Given the description of an element on the screen output the (x, y) to click on. 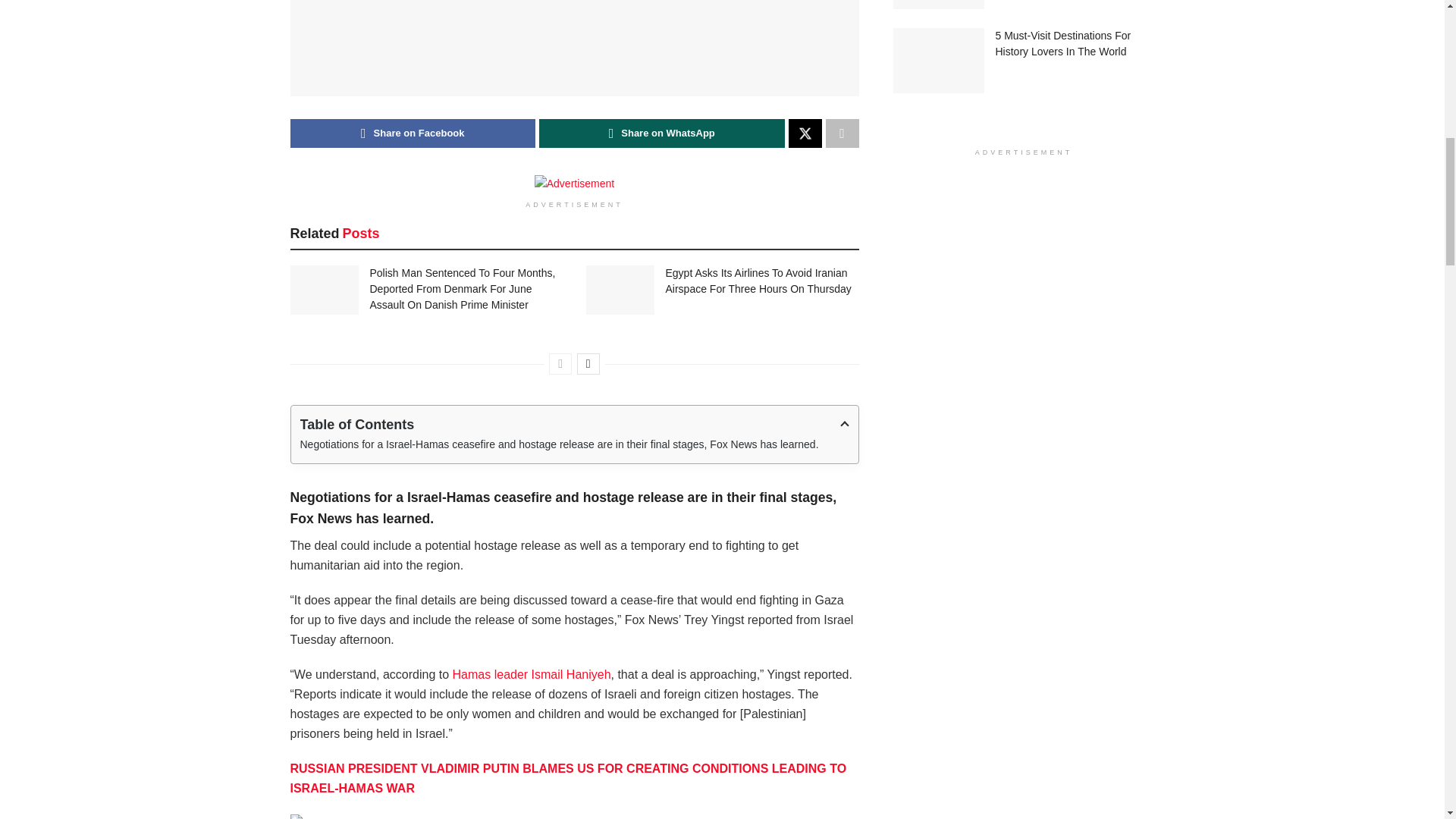
Previous (560, 363)
Next (587, 363)
